Given the description of an element on the screen output the (x, y) to click on. 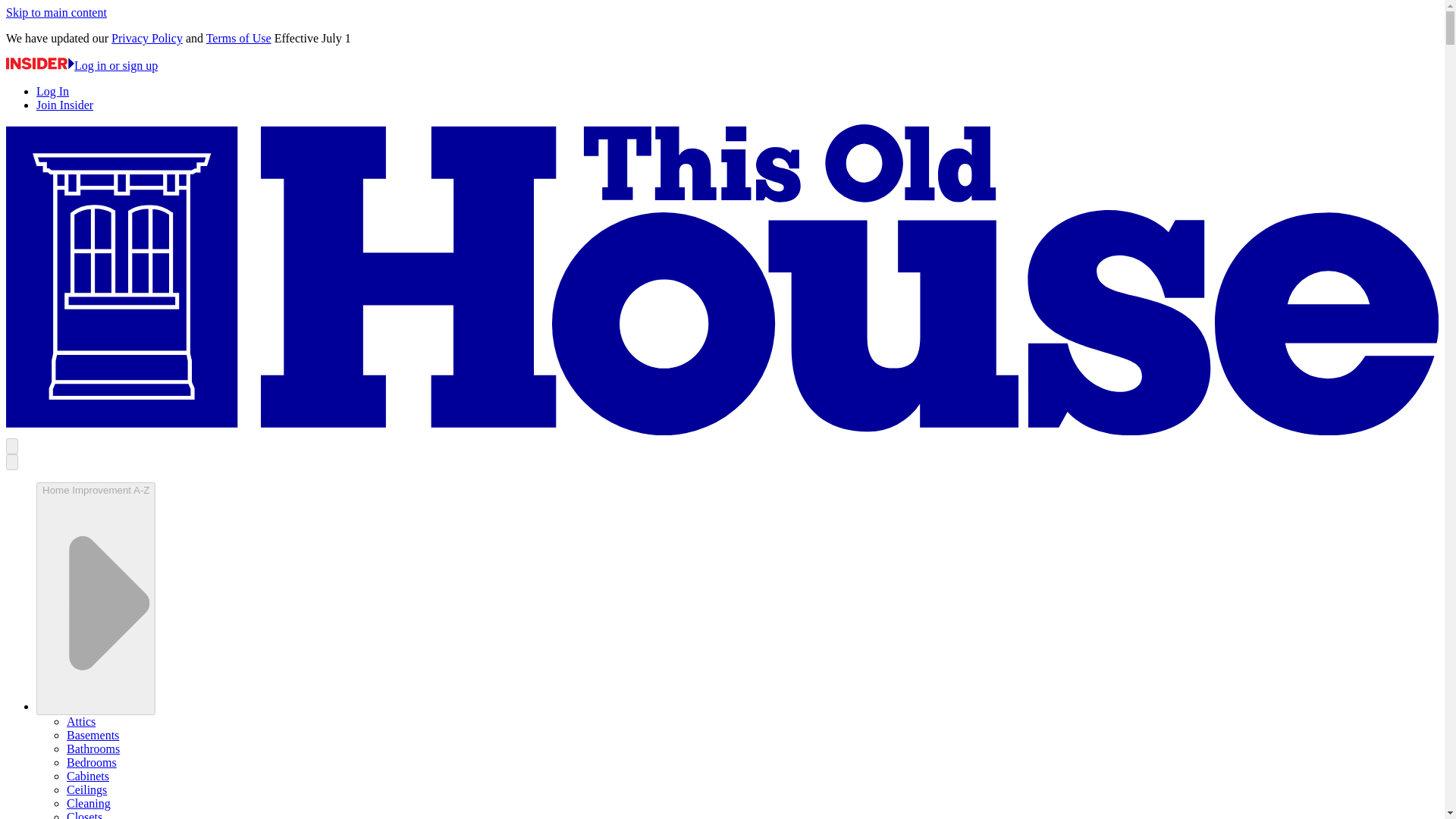
Log In (52, 91)
Terms of Use (238, 38)
Closets (83, 814)
Skip to main content (55, 11)
Attics (81, 721)
Log in or sign up (81, 65)
Bedrooms (91, 762)
Cleaning (88, 802)
Join Insider (64, 104)
Basements (92, 735)
